Given the description of an element on the screen output the (x, y) to click on. 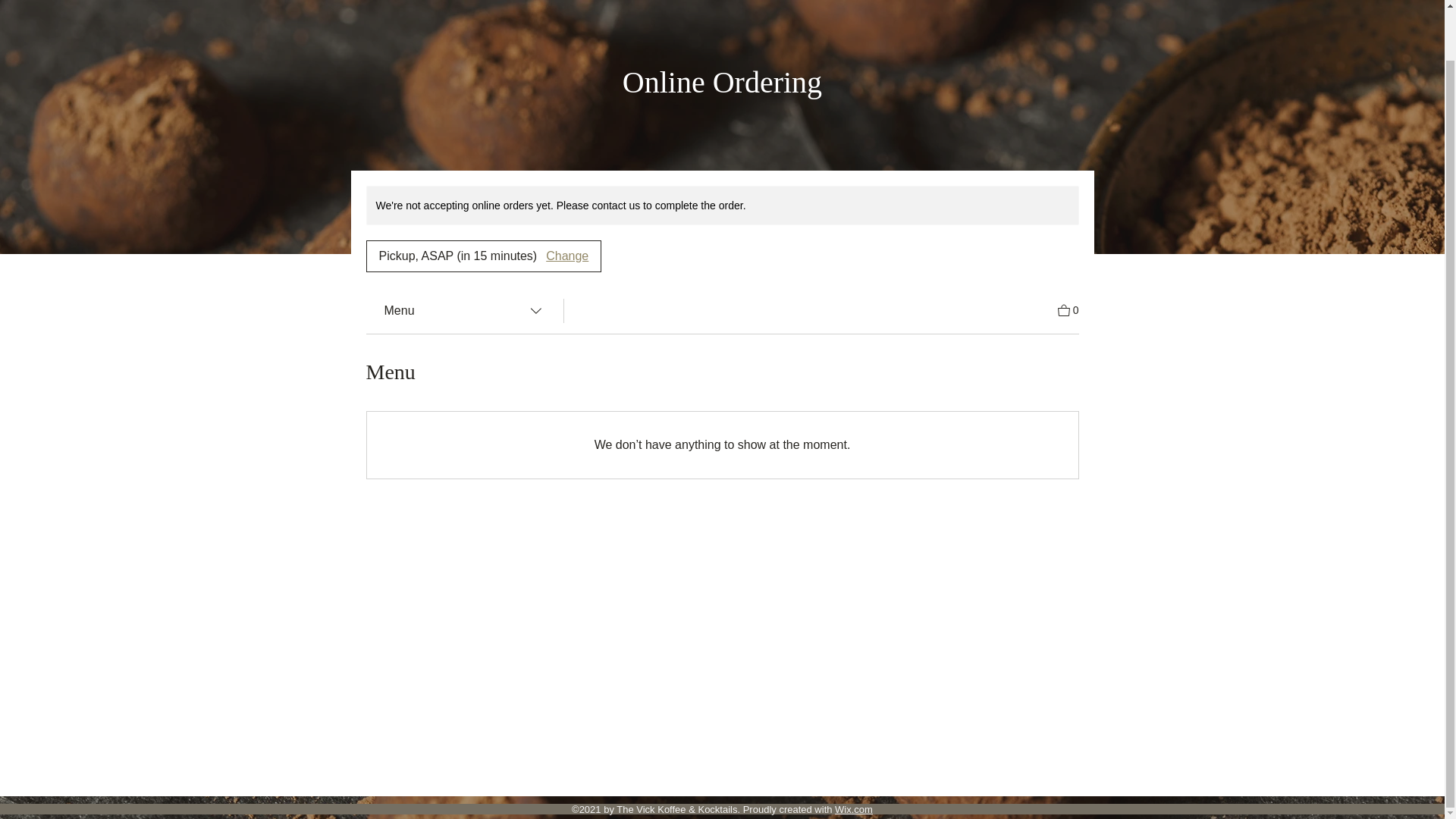
Wix.com (853, 808)
Change (567, 256)
0 (1068, 309)
Menu (463, 310)
